Given the description of an element on the screen output the (x, y) to click on. 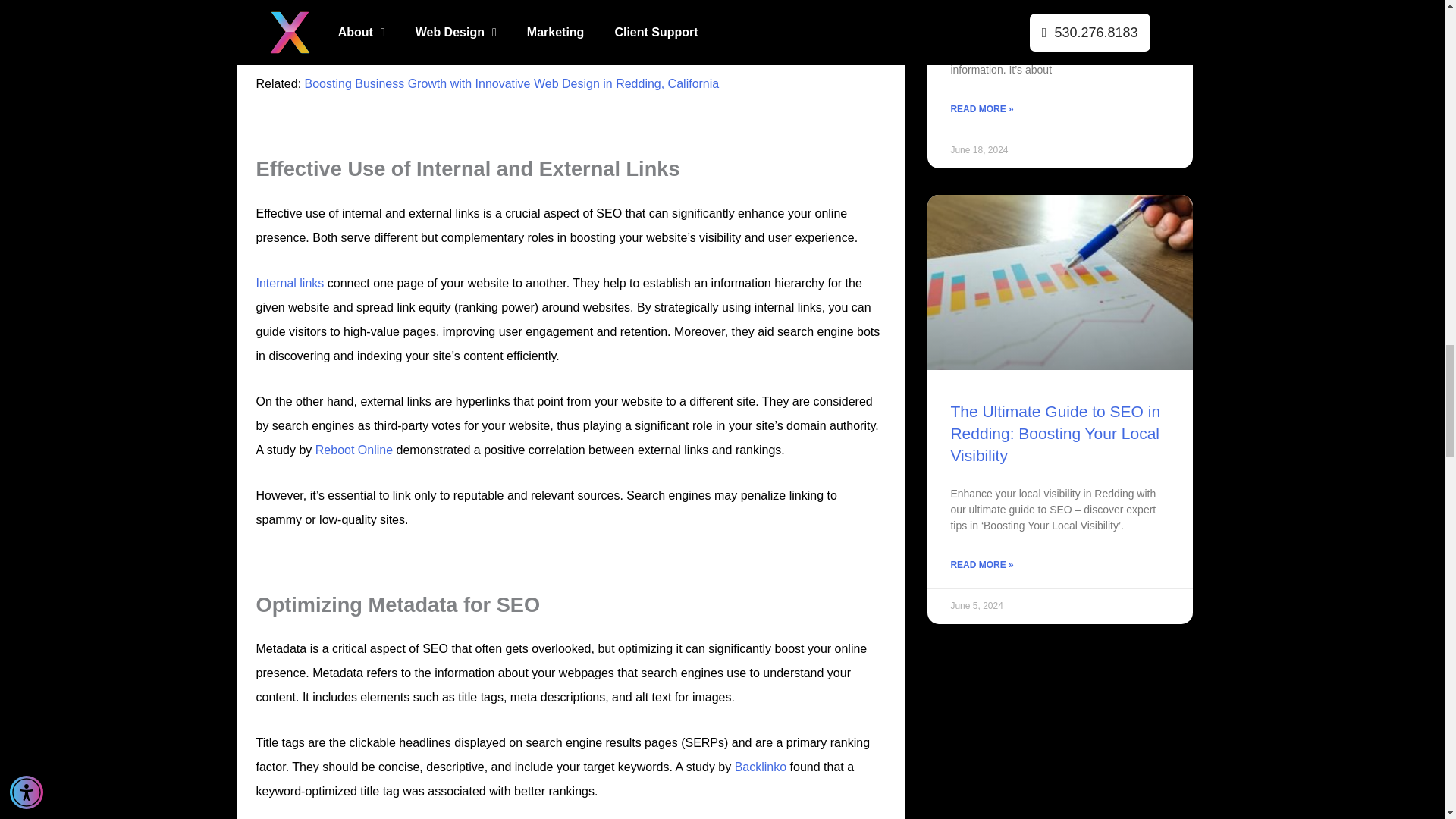
Internal links (290, 282)
